Given the description of an element on the screen output the (x, y) to click on. 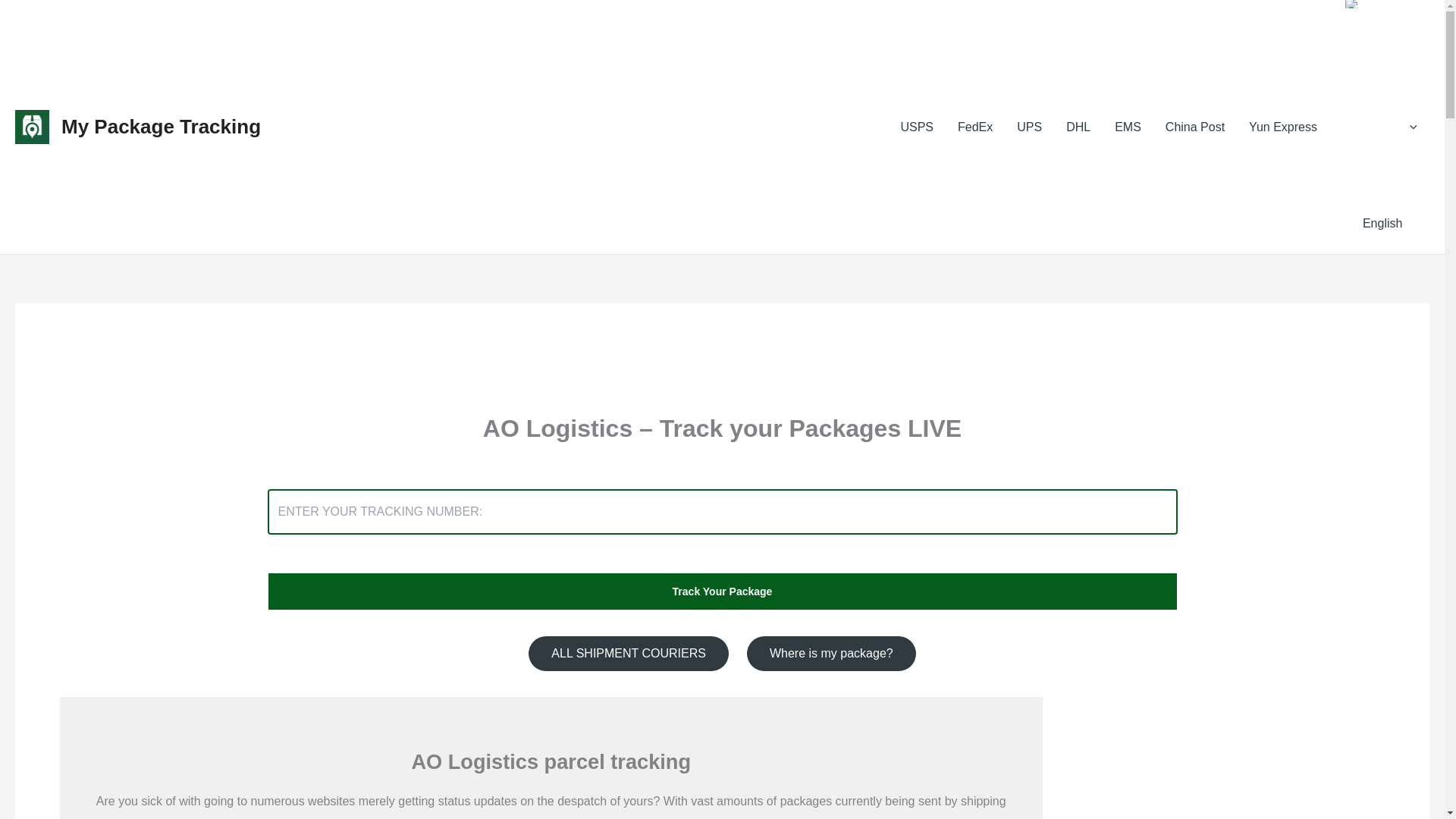
My Package Tracking (160, 126)
English (1351, 4)
Track Your Package (721, 591)
